Given the description of an element on the screen output the (x, y) to click on. 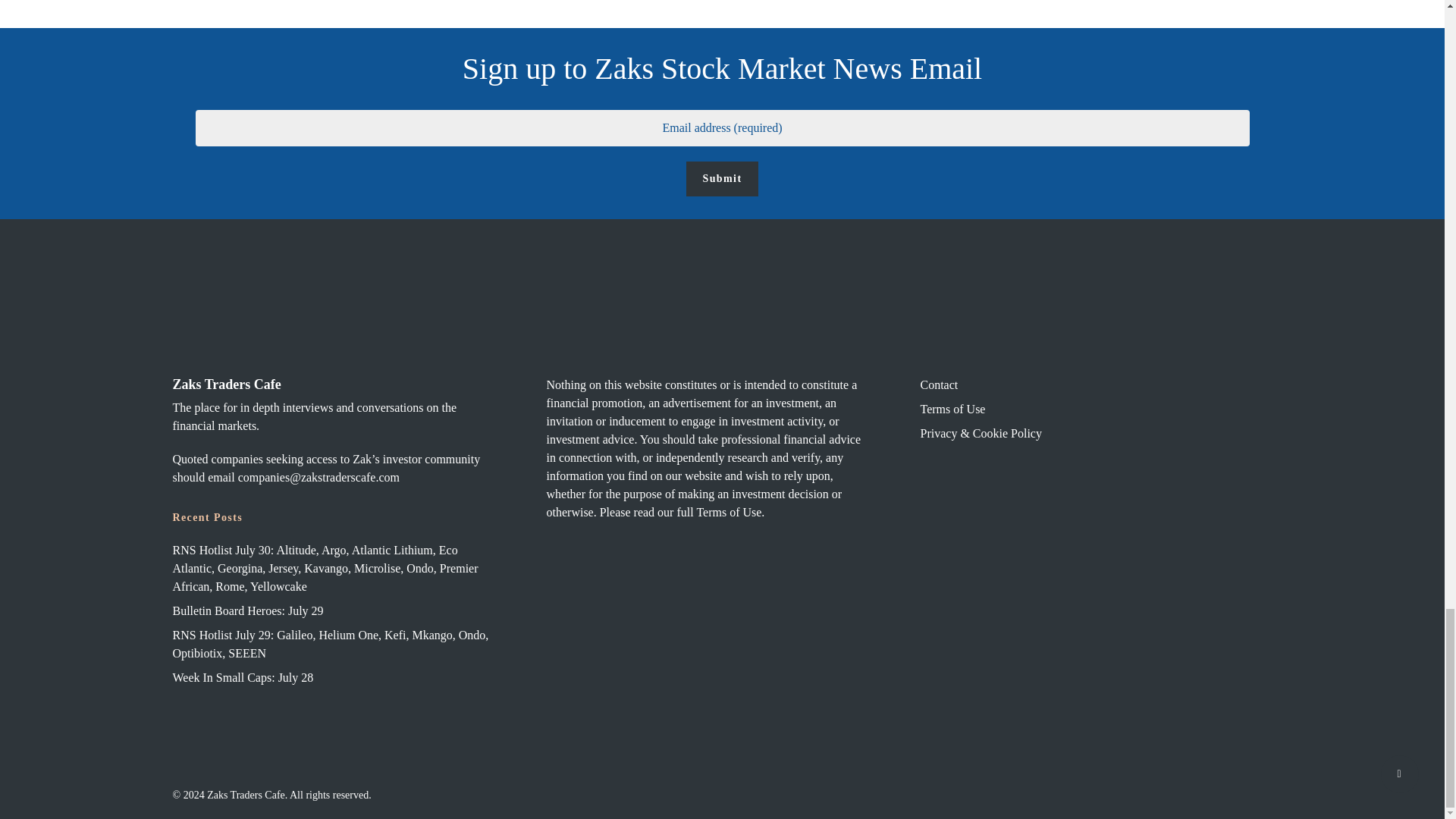
Contact (1078, 384)
Submit (721, 178)
Terms of Use (1078, 409)
Bulletin Board Heroes: July 29 (331, 610)
Week In Small Caps: July 28 (331, 678)
Submit (721, 178)
Terms of Use (728, 512)
